Given the description of an element on the screen output the (x, y) to click on. 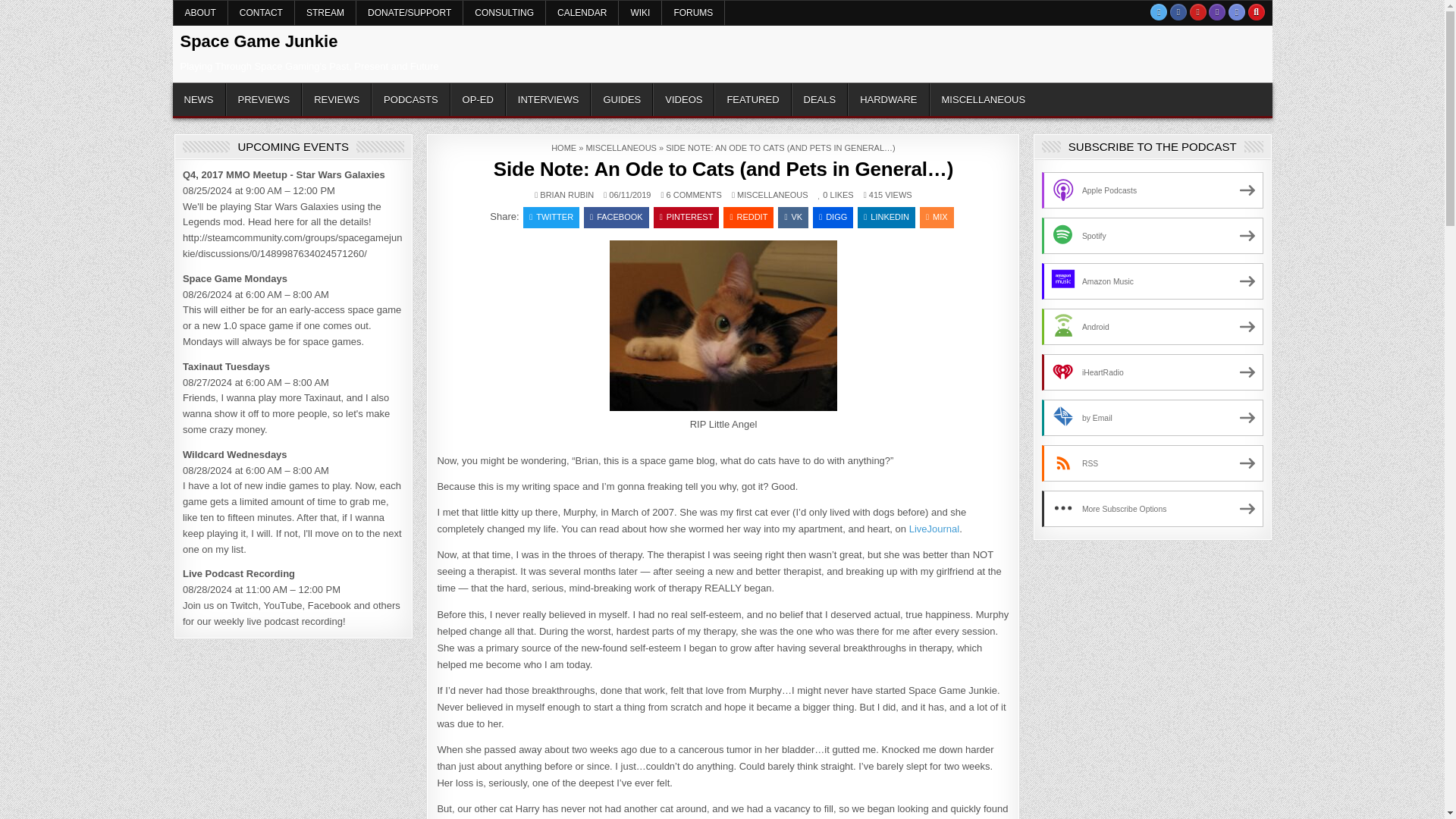
MISCELLANEOUS (772, 194)
DEALS (820, 99)
CONTACT (261, 12)
FORUMS (693, 12)
Share this on Facebook (616, 217)
PODCASTS (410, 99)
Tweet This! (550, 217)
Share this on VK (792, 217)
VIDEOS (683, 99)
0 (823, 194)
